Given the description of an element on the screen output the (x, y) to click on. 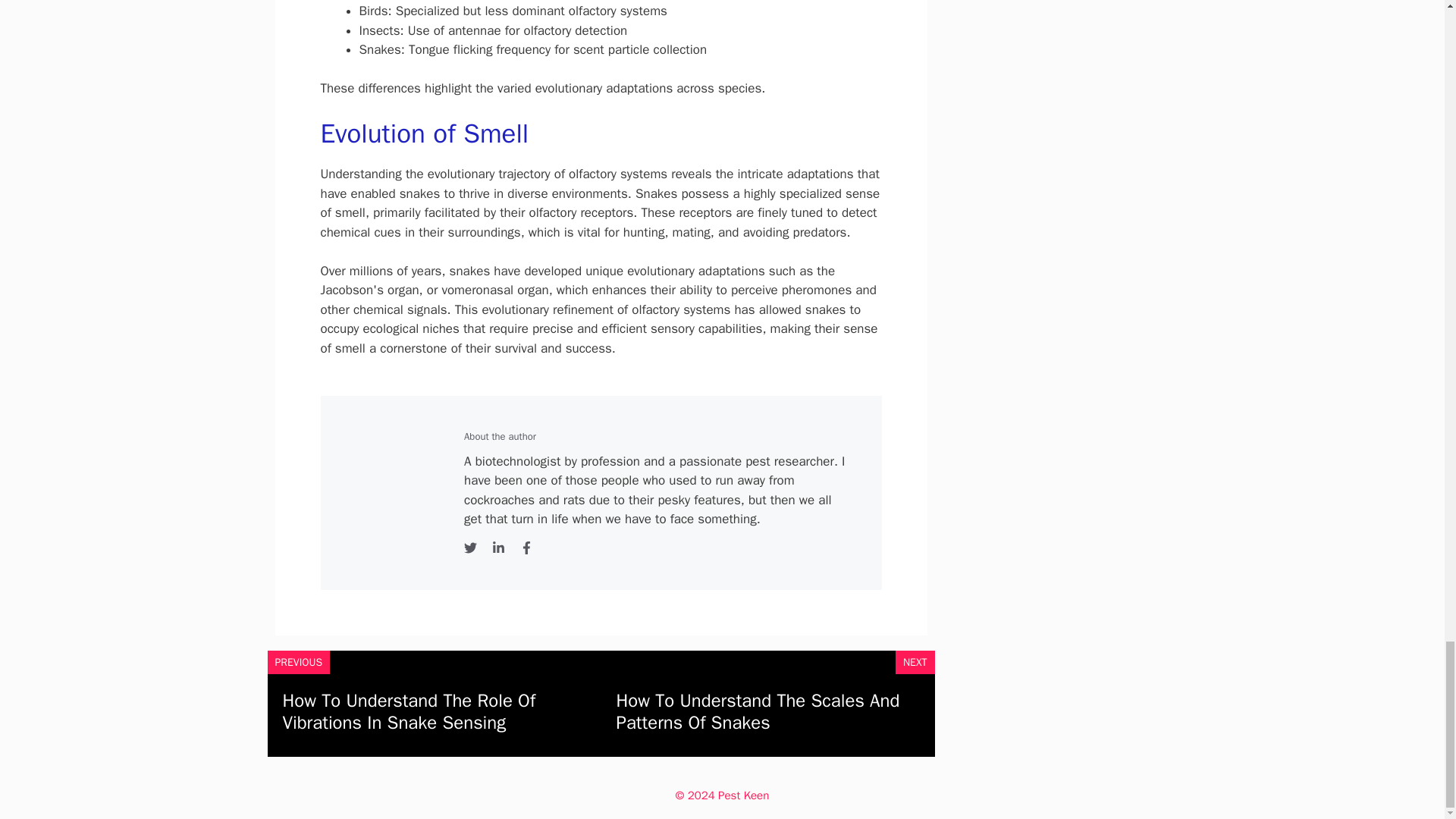
How To Understand The Role Of Vibrations In Snake Sensing (408, 711)
How To Understand The Scales And Patterns Of Snakes (757, 711)
